Given the description of an element on the screen output the (x, y) to click on. 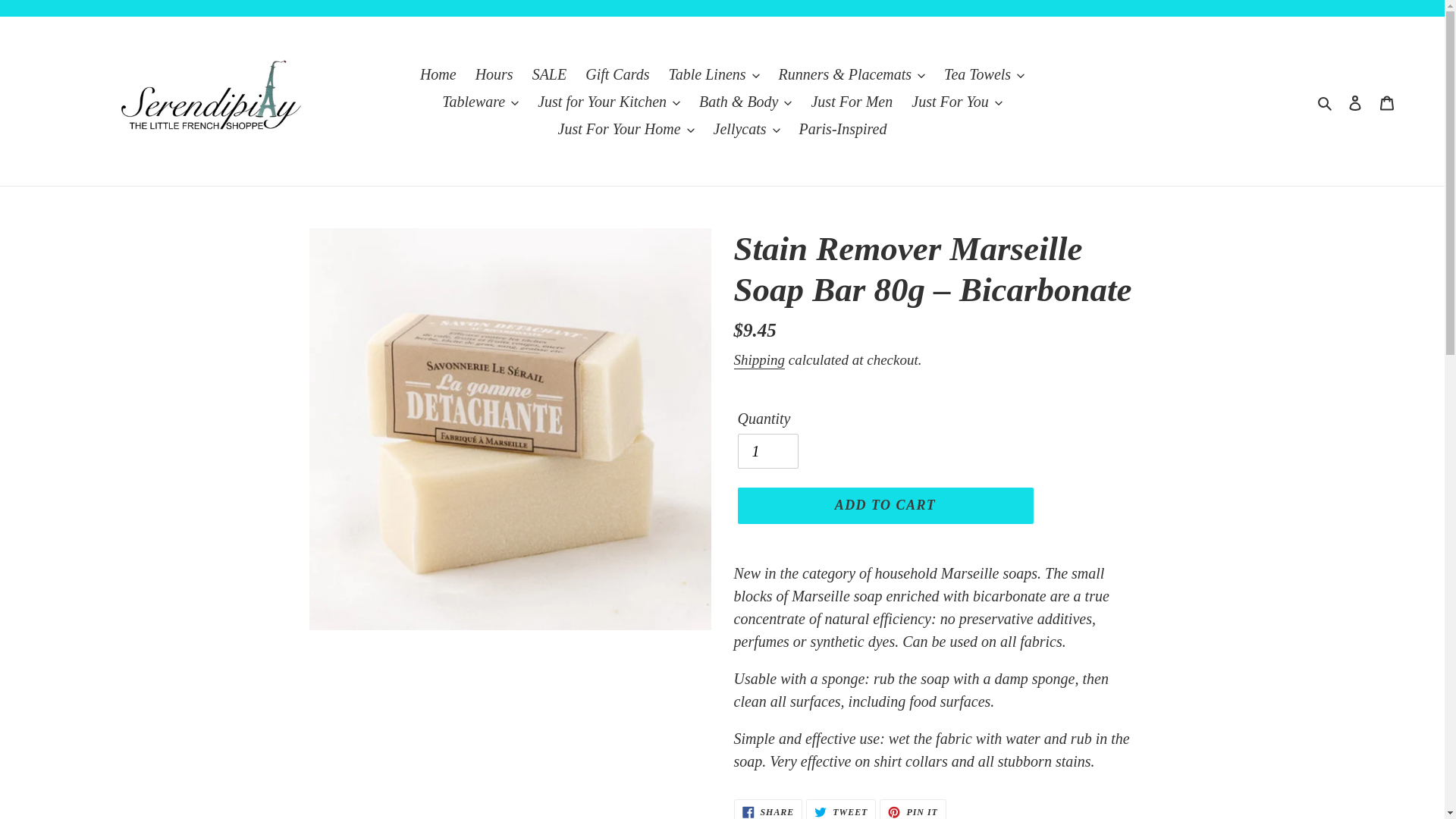
Tableware (479, 101)
Home (438, 73)
Gift Cards (617, 73)
1 (766, 451)
Table Linens (714, 73)
Tea Towels (984, 73)
SALE (549, 73)
Hours (494, 73)
